Given the description of an element on the screen output the (x, y) to click on. 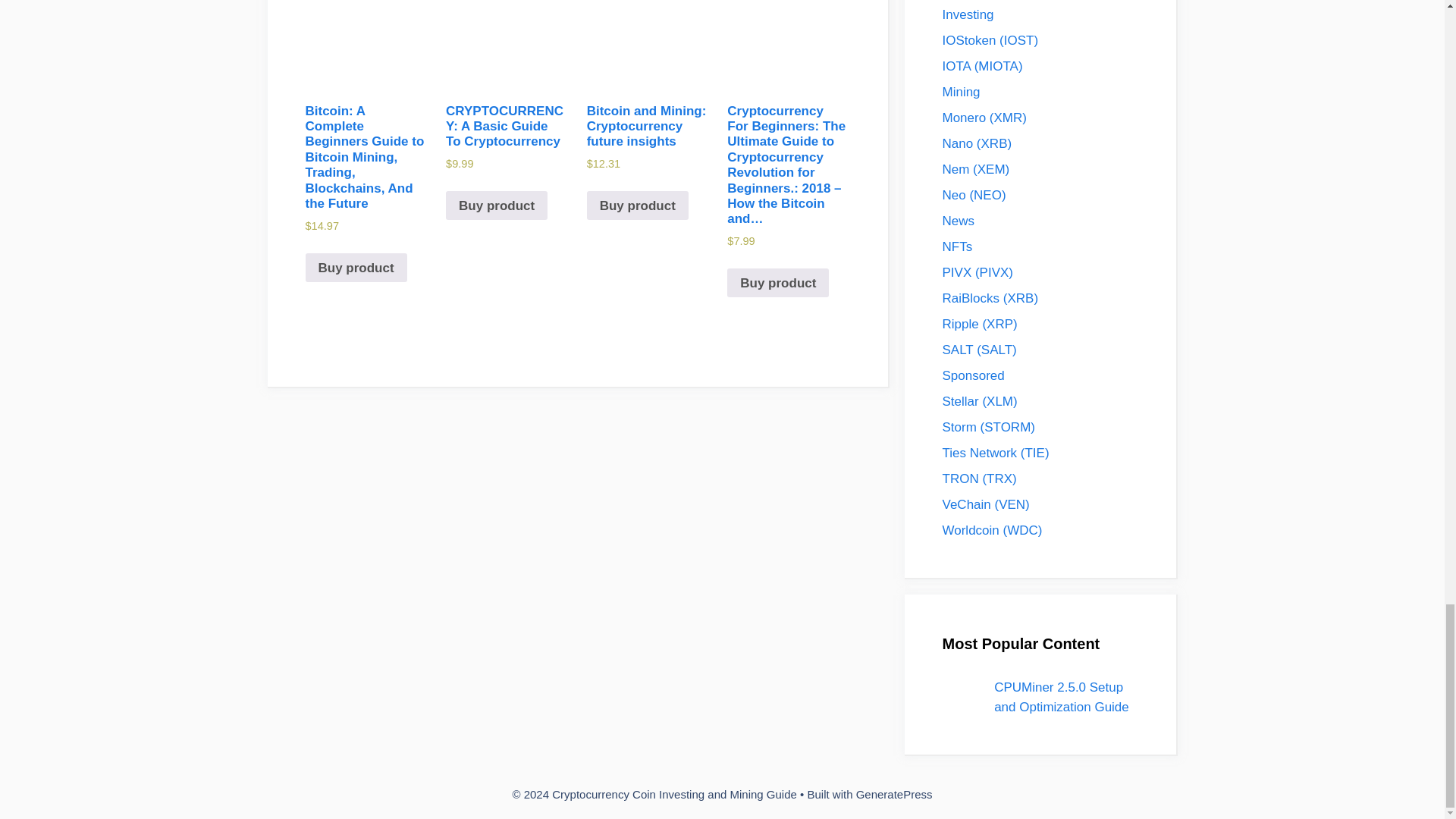
CPUMiner 2.5.0 Setup and Optimization Guide (1061, 697)
